Given the description of an element on the screen output the (x, y) to click on. 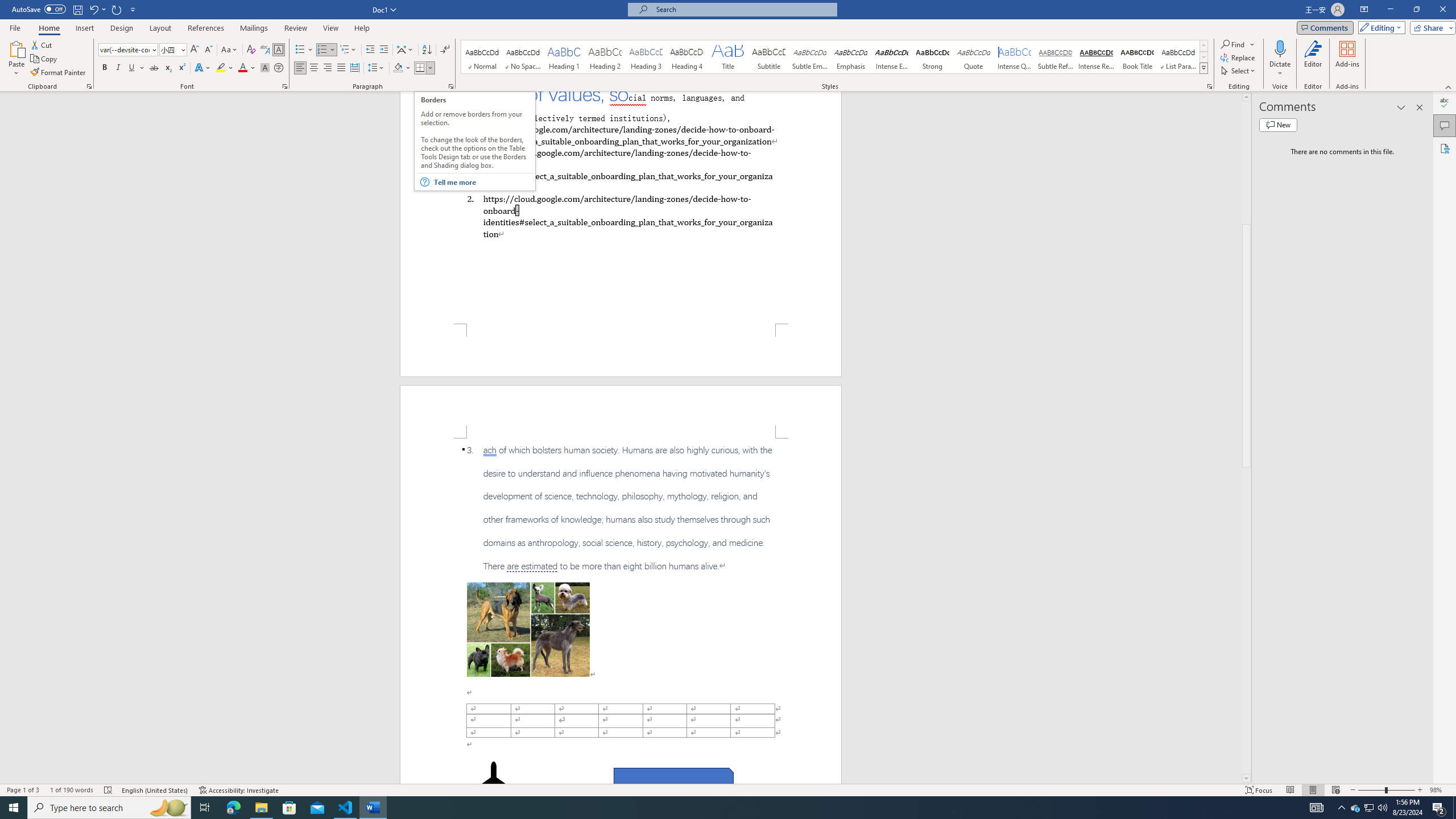
Footer -Section 1- (620, 349)
New comment (1278, 124)
Intense Reference (1095, 56)
Quote (973, 56)
1. (620, 169)
